Given the description of an element on the screen output the (x, y) to click on. 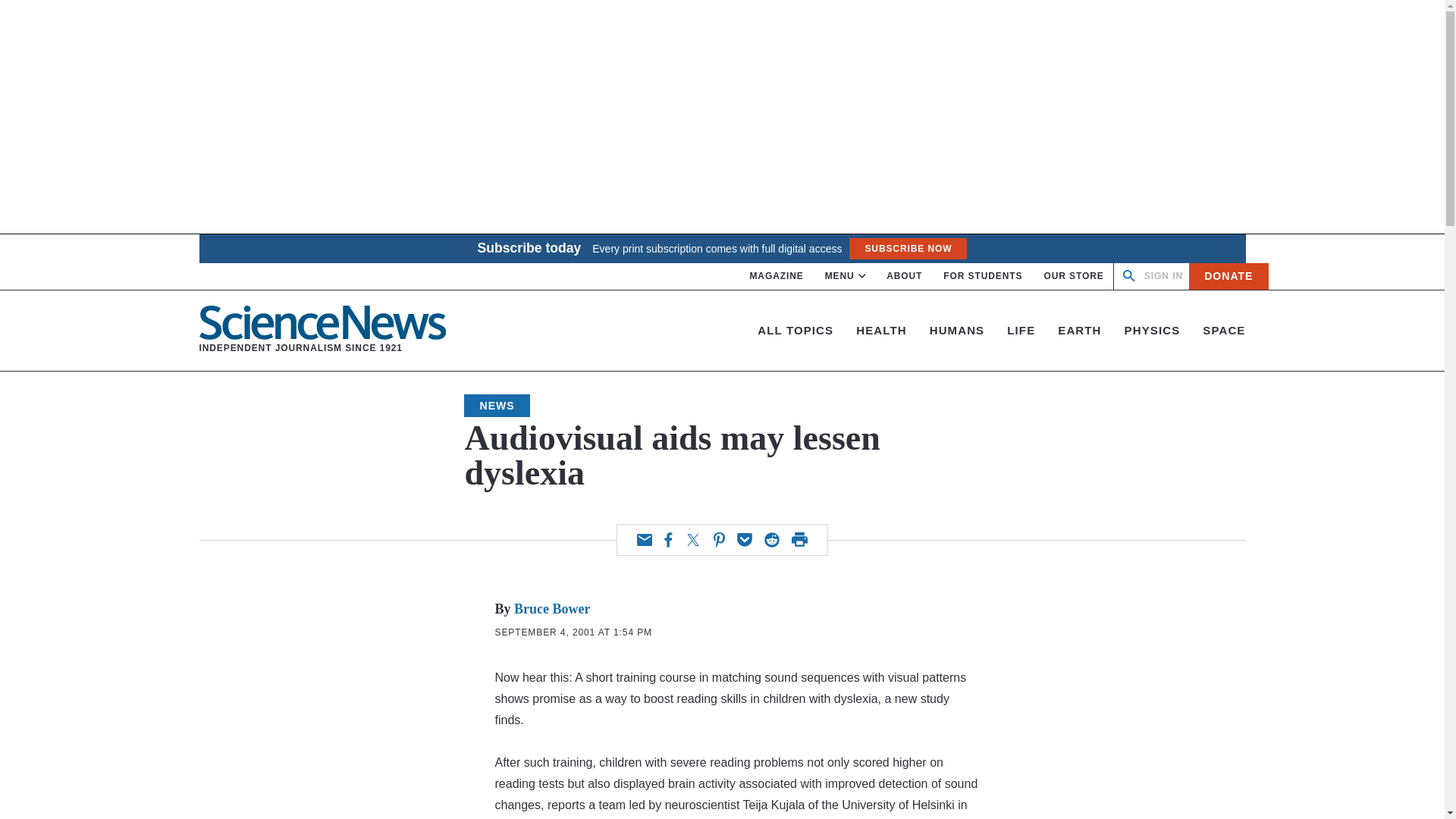
ALL TOPICS (794, 329)
MENU (321, 330)
SUBSCRIBE NOW (845, 275)
ABOUT (907, 248)
OUR STORE (903, 275)
MAGAZINE (1073, 275)
DONATE (776, 275)
FOR STUDENTS (1228, 275)
SIGN IN (982, 275)
